Given the description of an element on the screen output the (x, y) to click on. 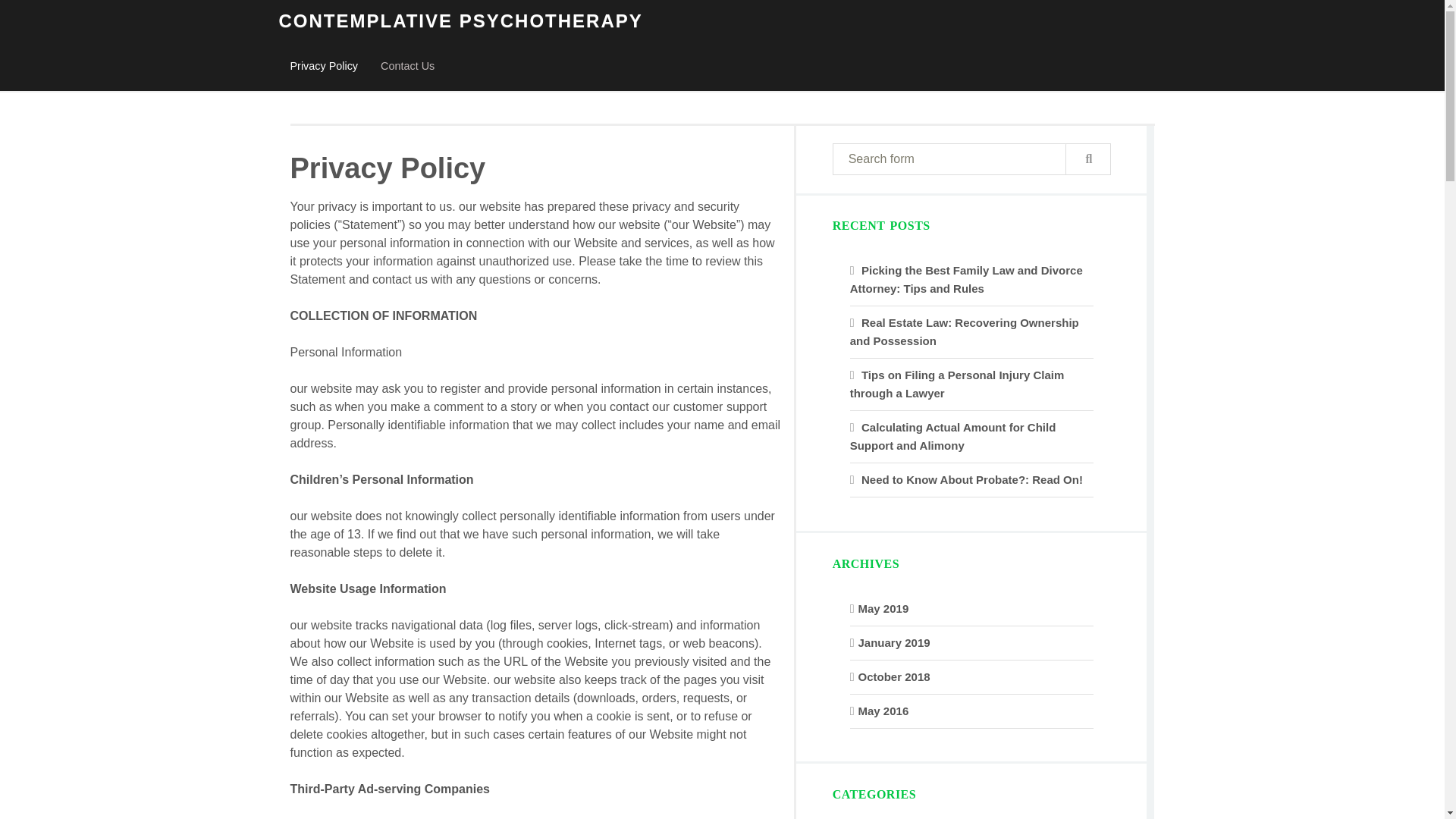
Calculating Actual Amount for Child Support and Alimony (953, 436)
Privacy Policy (324, 66)
May 2019 (883, 608)
CONTEMPLATIVE PSYCHOTHERAPY (461, 20)
Tips on Filing a Personal Injury Claim through a Lawyer (957, 383)
May 2016 (883, 710)
Real Estate Law: Recovering Ownership and Possession (964, 331)
Need to Know About Probate?: Read On! (972, 479)
October 2018 (894, 676)
Contact Us (407, 66)
January 2019 (894, 642)
